Given the description of an element on the screen output the (x, y) to click on. 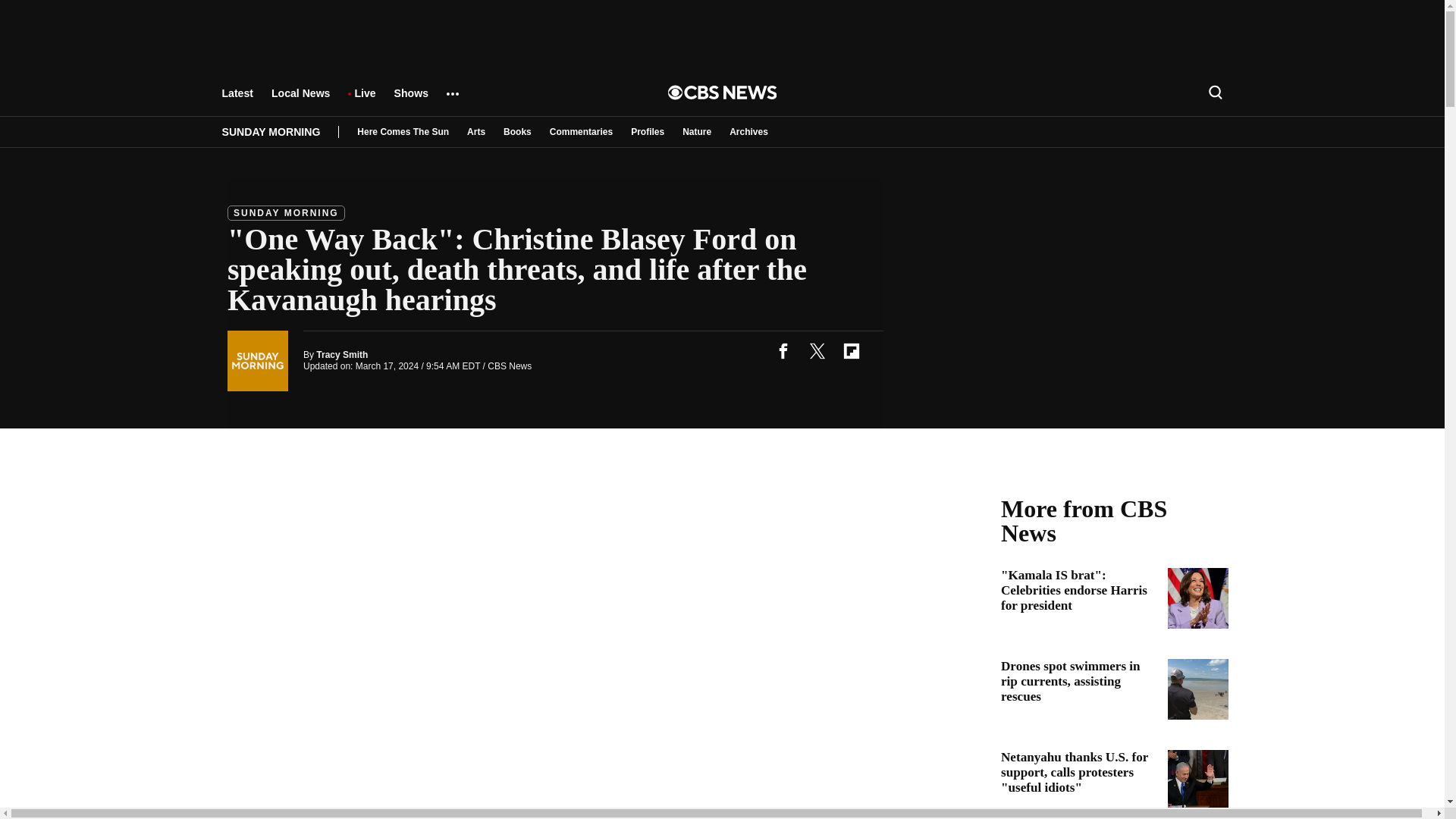
Local News (300, 100)
twitter (816, 350)
facebook (782, 350)
flipboard (850, 350)
Latest (236, 100)
